Given the description of an element on the screen output the (x, y) to click on. 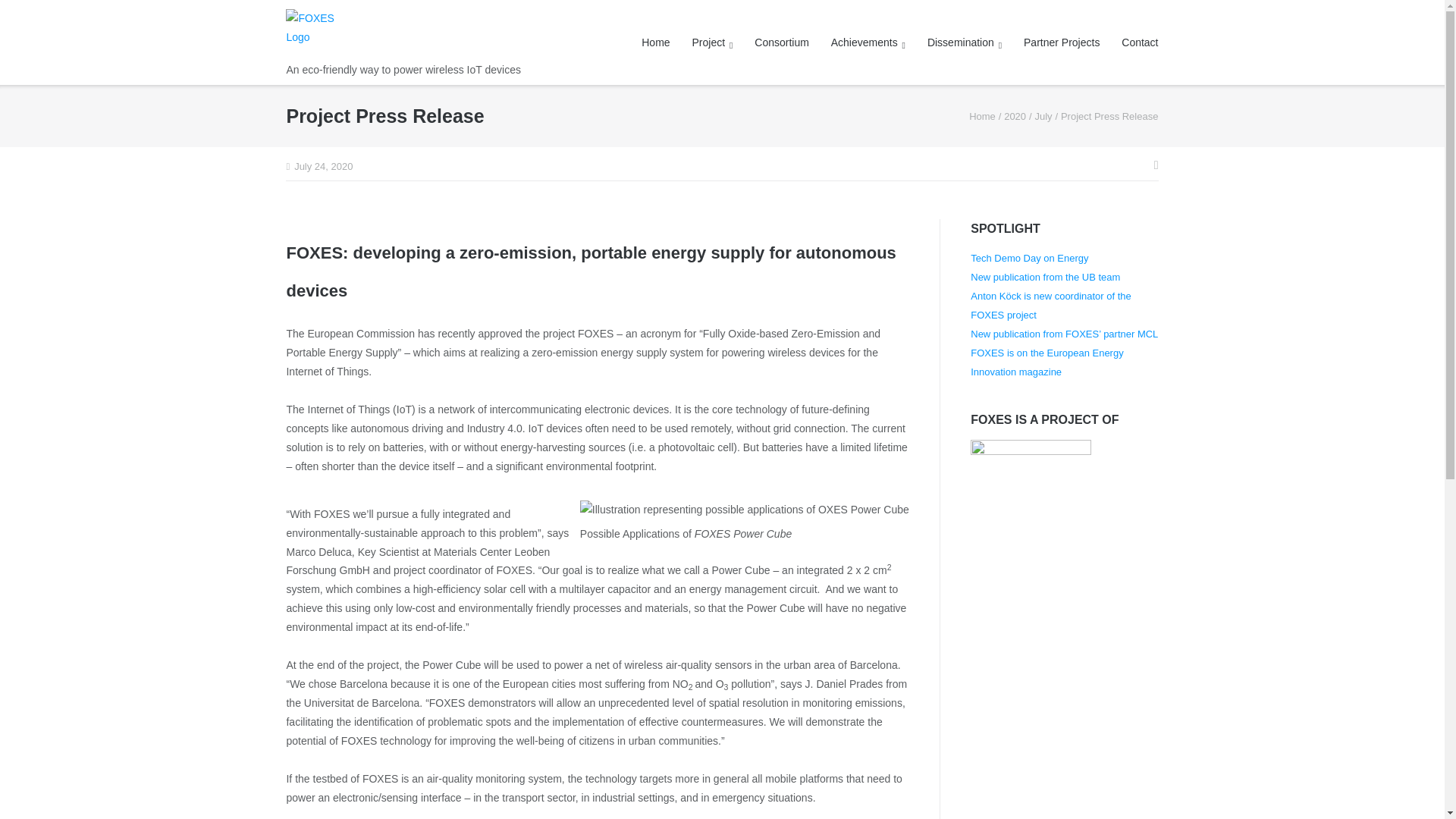
FOXES is on the European Energy Innovation magazine (1046, 362)
Home (982, 116)
July (1042, 116)
New publication from the UB team (1045, 276)
FOXES (982, 116)
2020 (1015, 116)
Partner Projects (1061, 42)
Tech Demo Day on Energy (1029, 257)
